Given the description of an element on the screen output the (x, y) to click on. 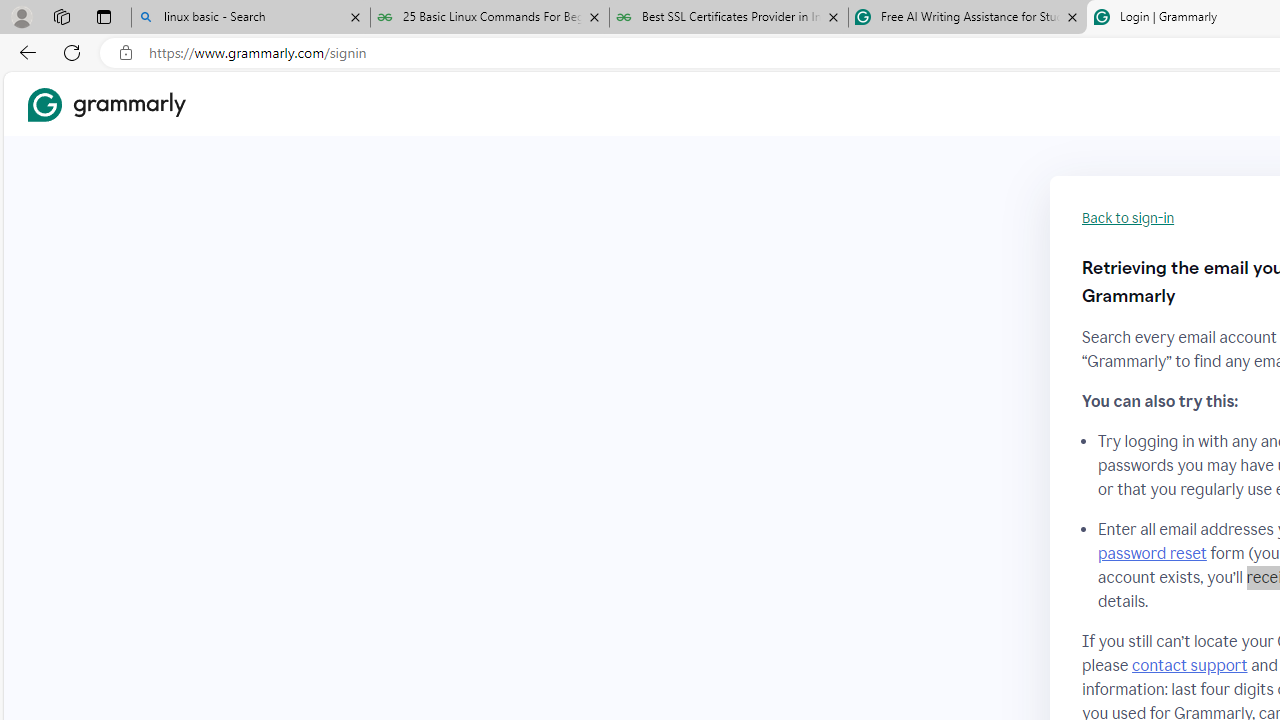
Grammarly Home (106, 104)
